Given the description of an element on the screen output the (x, y) to click on. 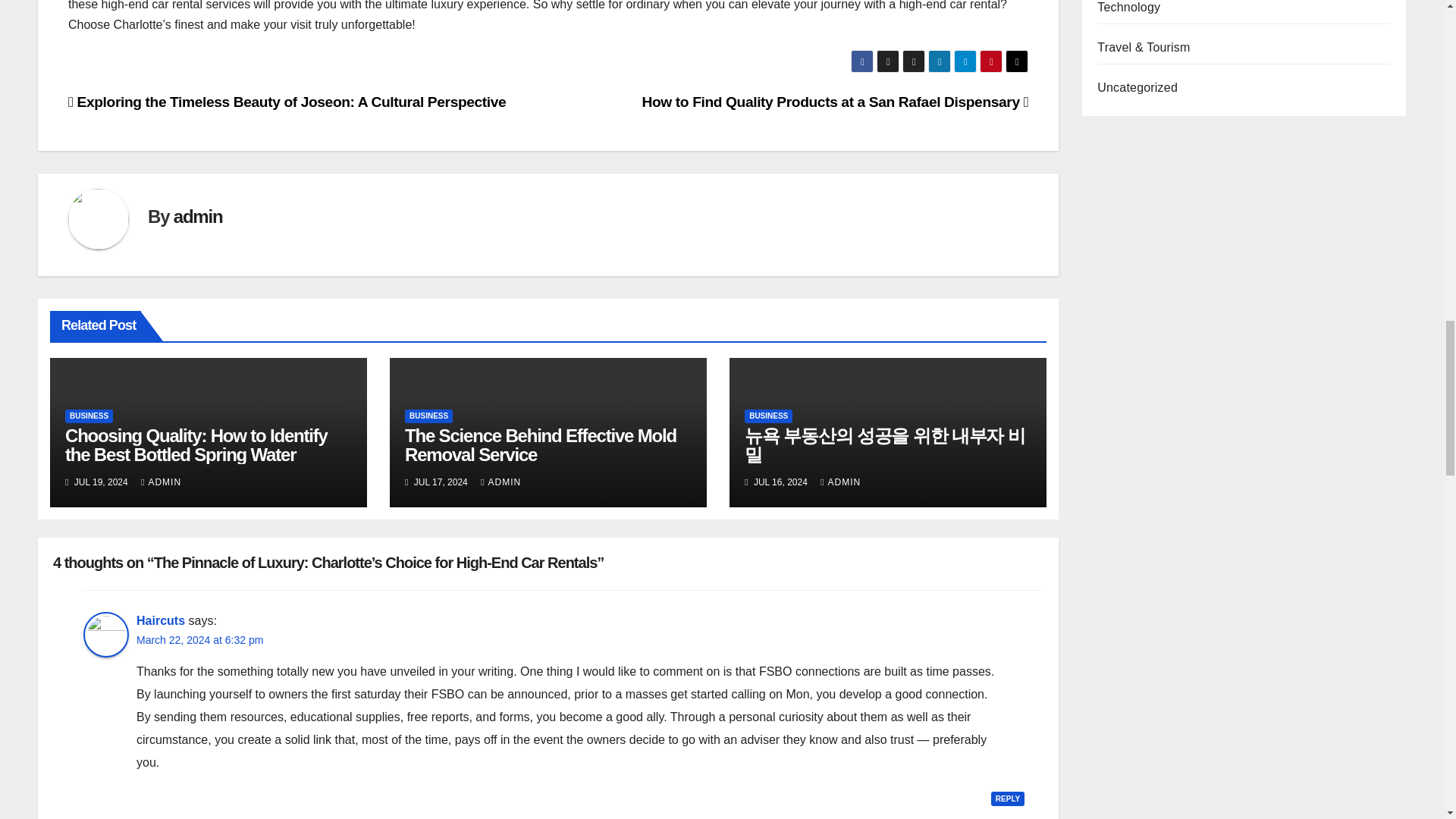
admin (197, 216)
BUSINESS (89, 416)
How to Find Quality Products at a San Rafael Dispensary (835, 101)
BUSINESS (428, 416)
ADMIN (160, 481)
